Given the description of an element on the screen output the (x, y) to click on. 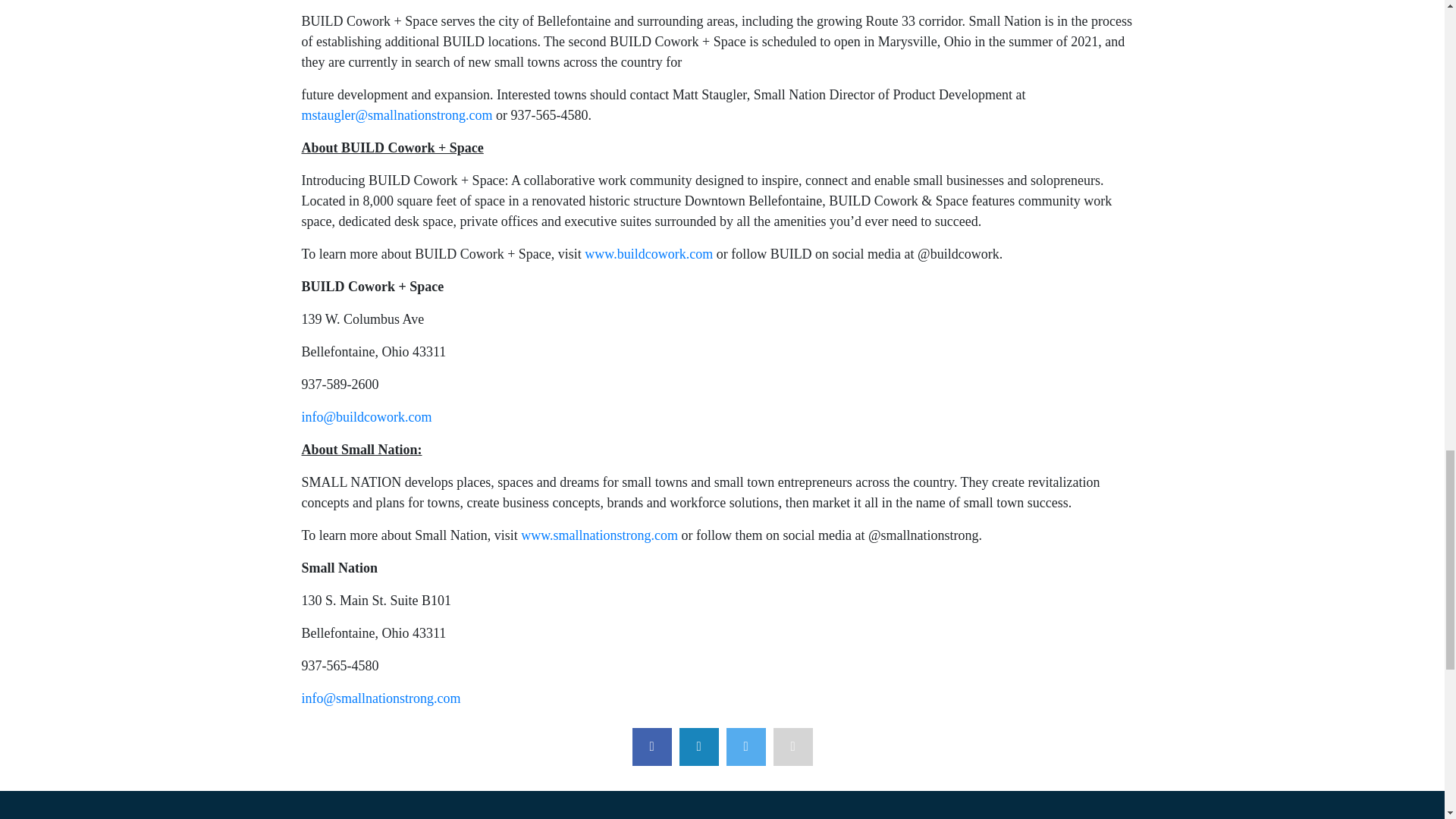
www.smallnationstrong.com (599, 534)
www.buildcowork.com (649, 253)
